Given the description of an element on the screen output the (x, y) to click on. 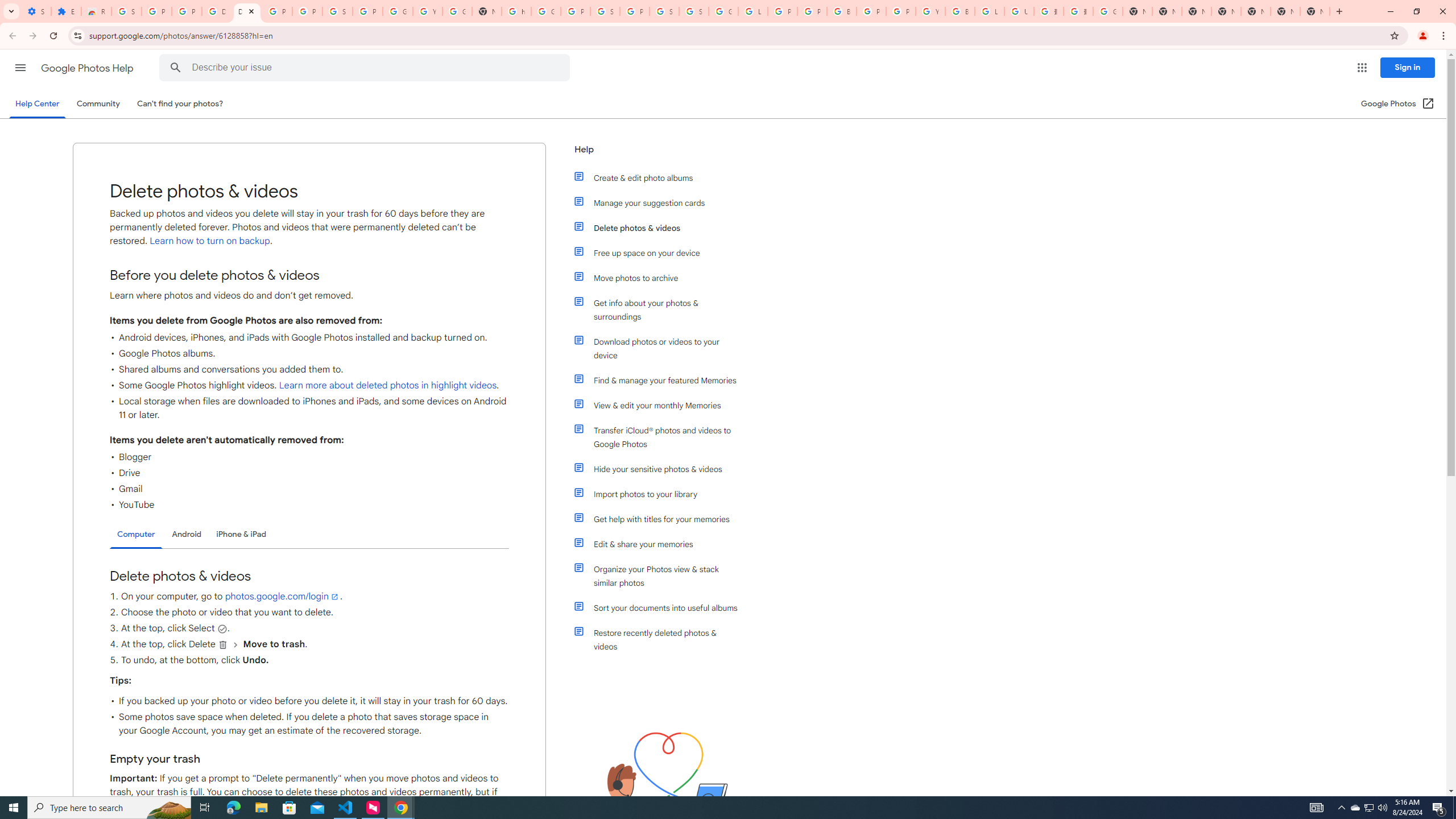
Download photos or videos to your device (661, 348)
Free up space on your device (661, 252)
Get help with titles for your memories (661, 518)
Delete photos & videos - Computer - Google Photos Help (247, 11)
Search Help Center (176, 67)
Manage your suggestion cards (661, 202)
Hide your sensitive photos & videos (661, 469)
New Tab (1226, 11)
